Given the description of an element on the screen output the (x, y) to click on. 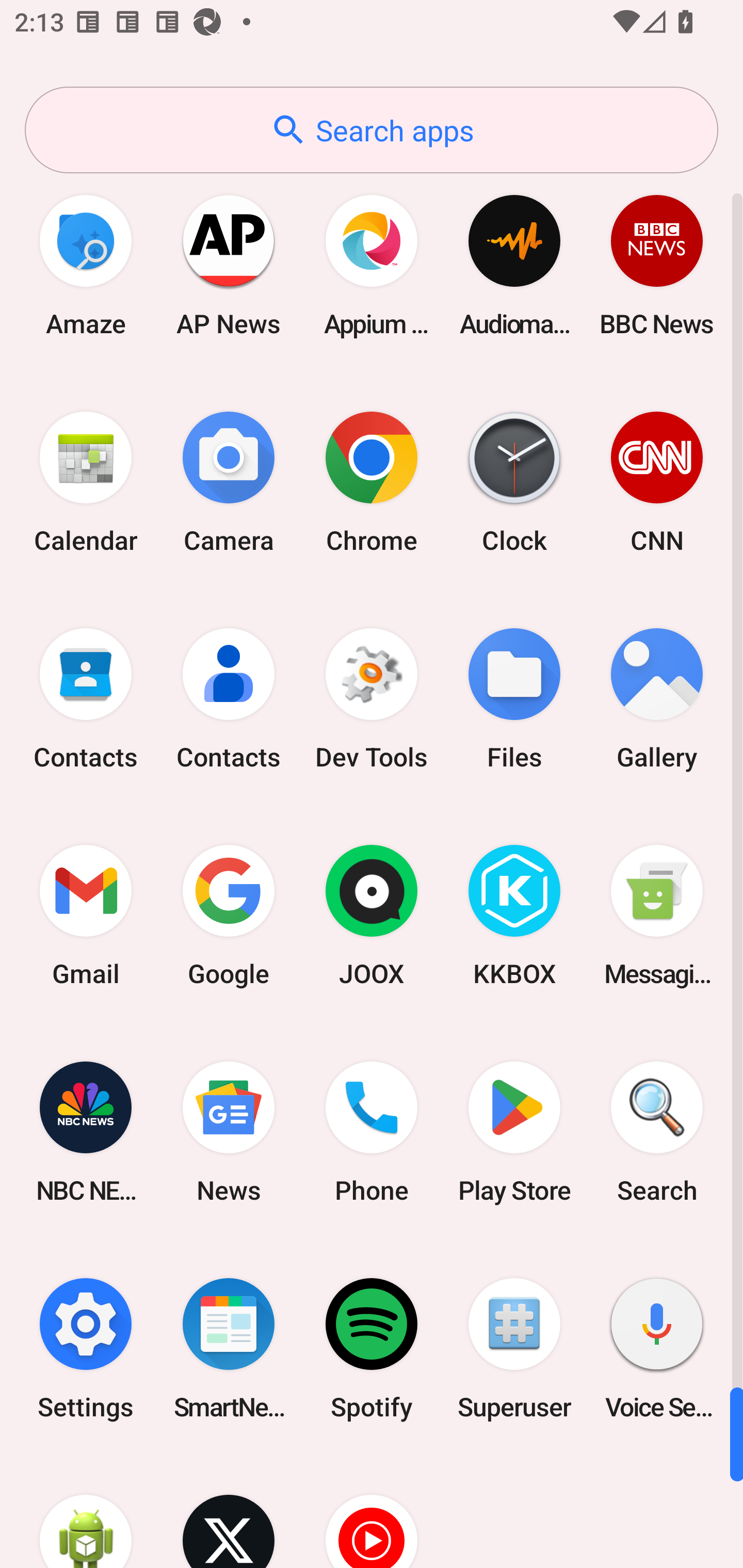
  Search apps (371, 130)
Amaze (85, 264)
AP News (228, 264)
Appium Settings (371, 264)
Audio­mack (514, 264)
BBC News (656, 264)
Calendar (85, 482)
Camera (228, 482)
Chrome (371, 482)
Clock (514, 482)
CNN (656, 482)
Contacts (85, 699)
Contacts (228, 699)
Dev Tools (371, 699)
Files (514, 699)
Gallery (656, 699)
Gmail (85, 915)
Google (228, 915)
JOOX (371, 915)
KKBOX (514, 915)
Messaging (656, 915)
NBC NEWS (85, 1131)
News (228, 1131)
Phone (371, 1131)
Play Store (514, 1131)
Search (656, 1131)
Settings (85, 1348)
SmartNews (228, 1348)
Spotify (371, 1348)
Superuser (514, 1348)
Voice Search (656, 1348)
WebView Browser Tester (85, 1512)
X (228, 1512)
YT Music (371, 1512)
